Given the description of an element on the screen output the (x, y) to click on. 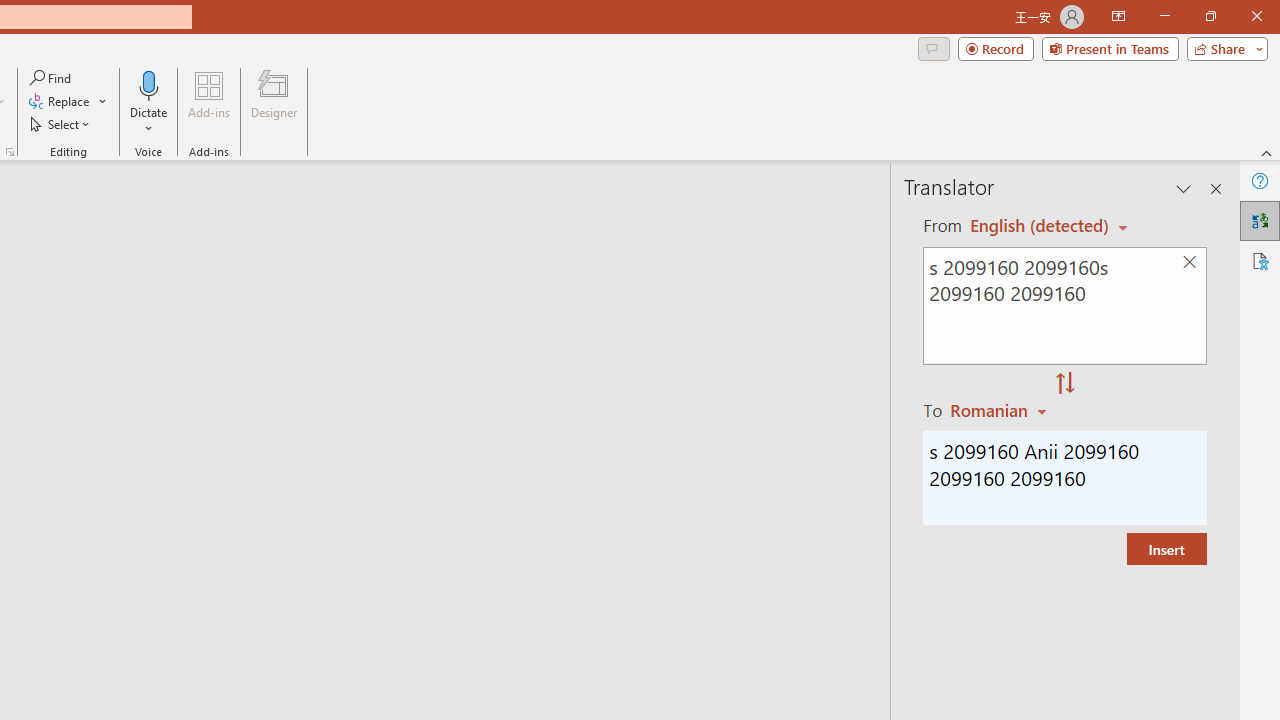
Czech (detected) (1039, 225)
Translator (1260, 220)
Clear text (1189, 262)
